Given the description of an element on the screen output the (x, y) to click on. 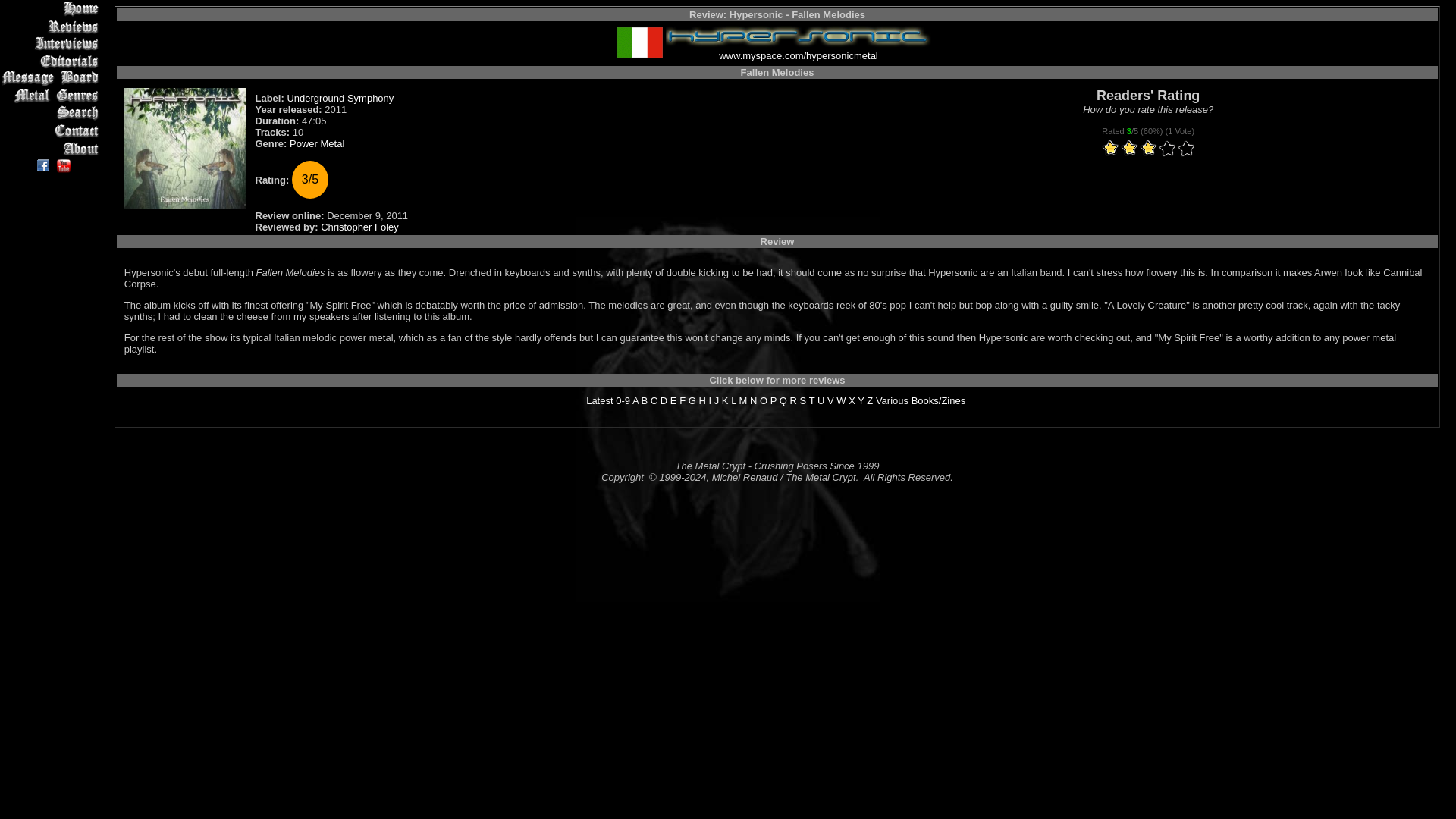
4 stars out of 5 (1138, 148)
Underground Symphony (339, 98)
List of Editorials (52, 60)
G (691, 400)
D (663, 400)
3 (1128, 148)
F (682, 400)
B (644, 400)
List of Reviews (52, 26)
1 star out of 5 (1109, 148)
Interviews (52, 43)
3 stars out of 5 (1128, 148)
K (725, 400)
Search (52, 113)
H (701, 400)
